Given the description of an element on the screen output the (x, y) to click on. 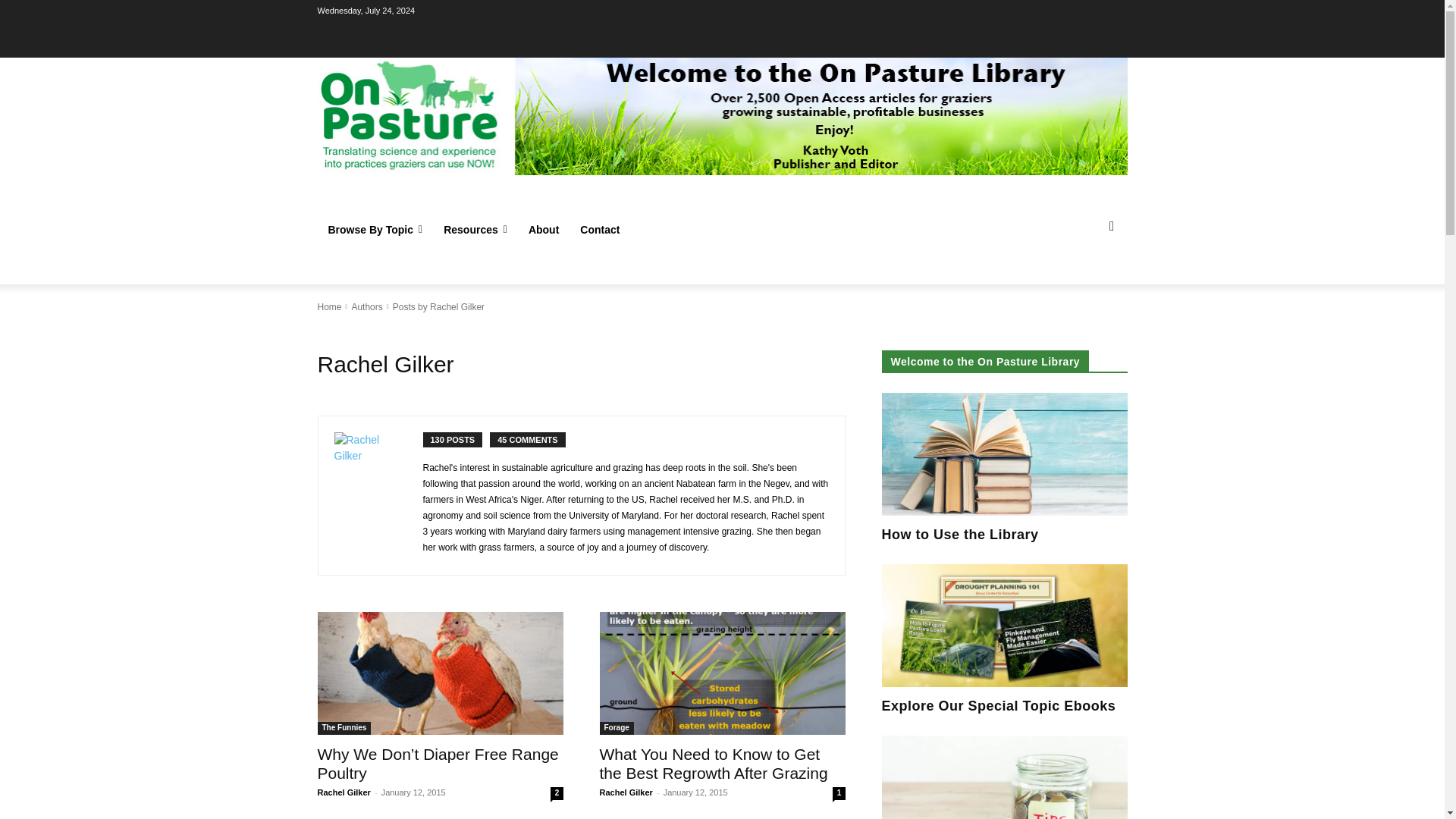
What You Need to Know to Get the Best Regrowth After Grazing (721, 672)
What You Need to Know to Get the Best Regrowth After Grazing (712, 763)
